Given the description of an element on the screen output the (x, y) to click on. 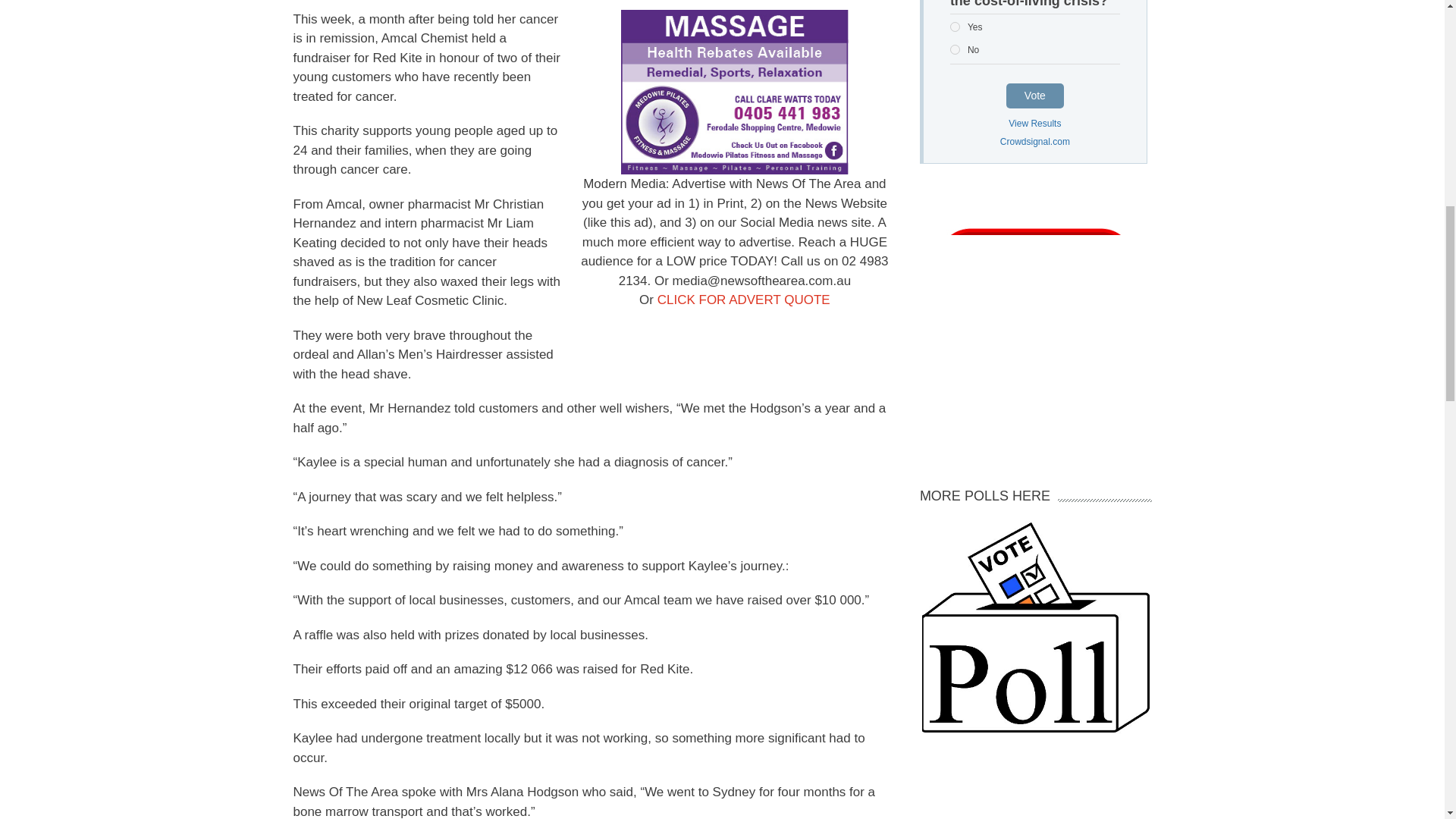
60815113 (954, 26)
60815114 (954, 49)
